Given the description of an element on the screen output the (x, y) to click on. 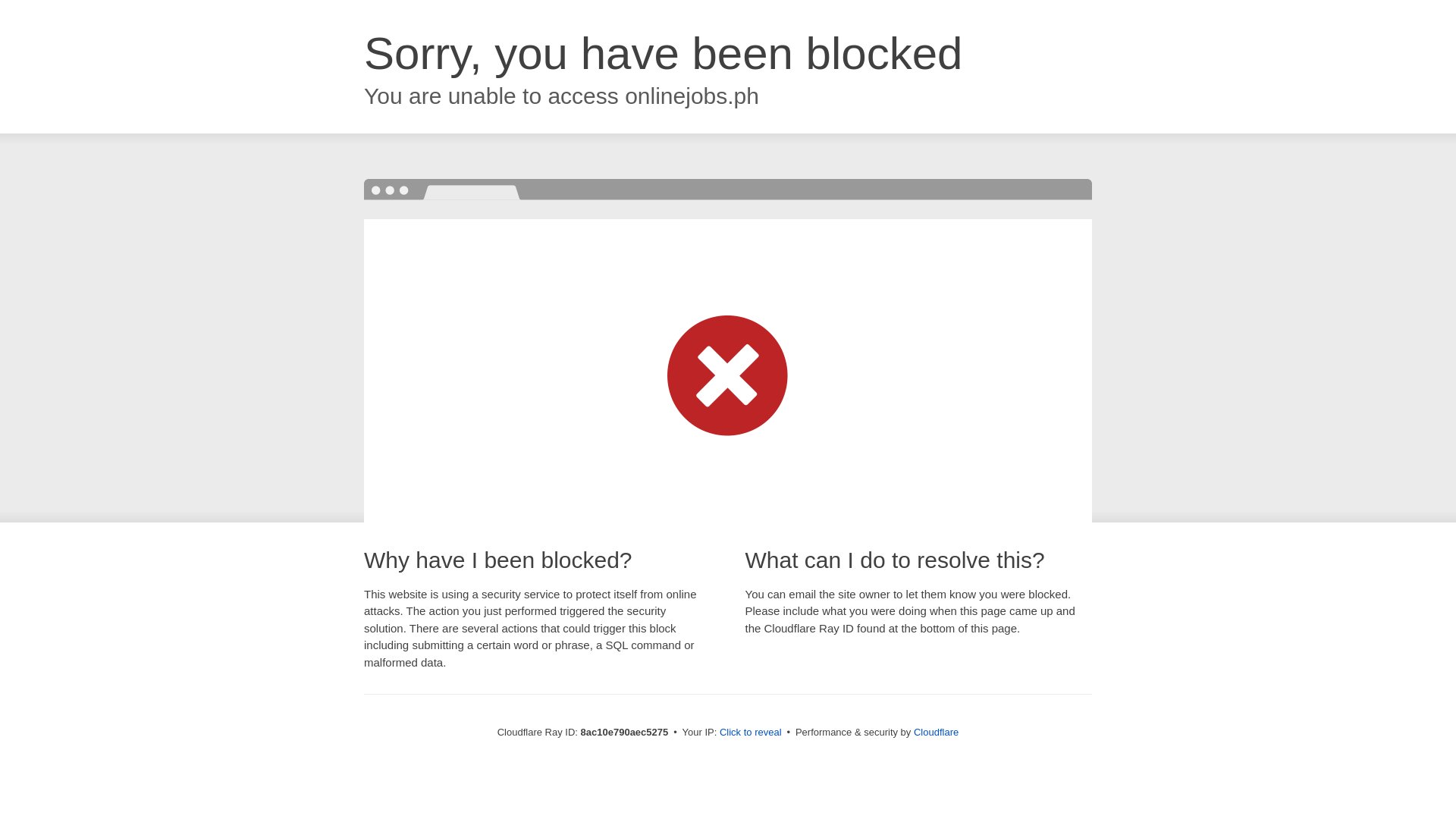
Cloudflare (936, 731)
Click to reveal (750, 732)
